Given the description of an element on the screen output the (x, y) to click on. 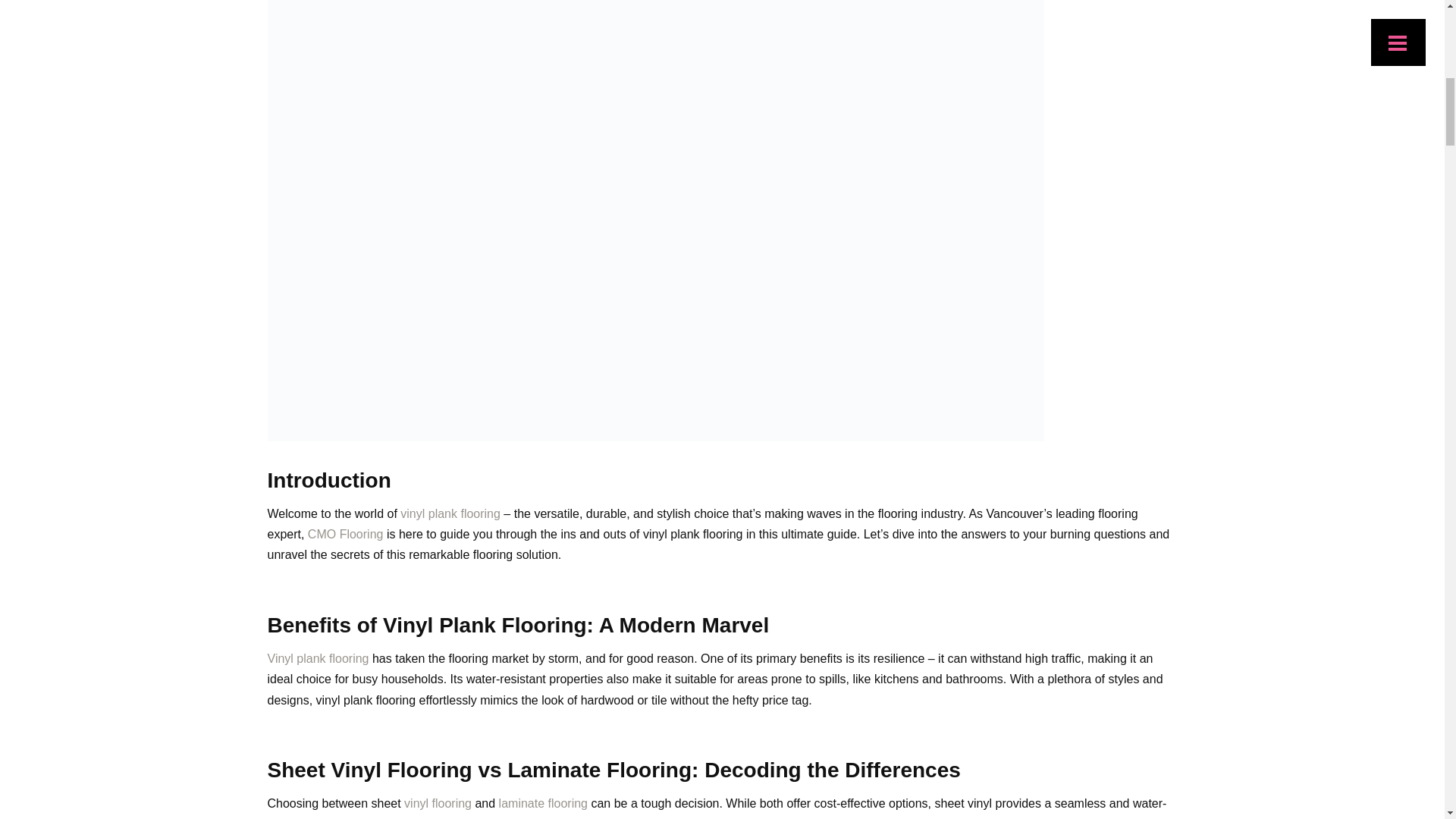
vinyl flooring (437, 802)
CMO Flooring (345, 533)
vinyl plank flooring (450, 513)
laminate flooring (543, 802)
Vinyl plank flooring (317, 658)
